Given the description of an element on the screen output the (x, y) to click on. 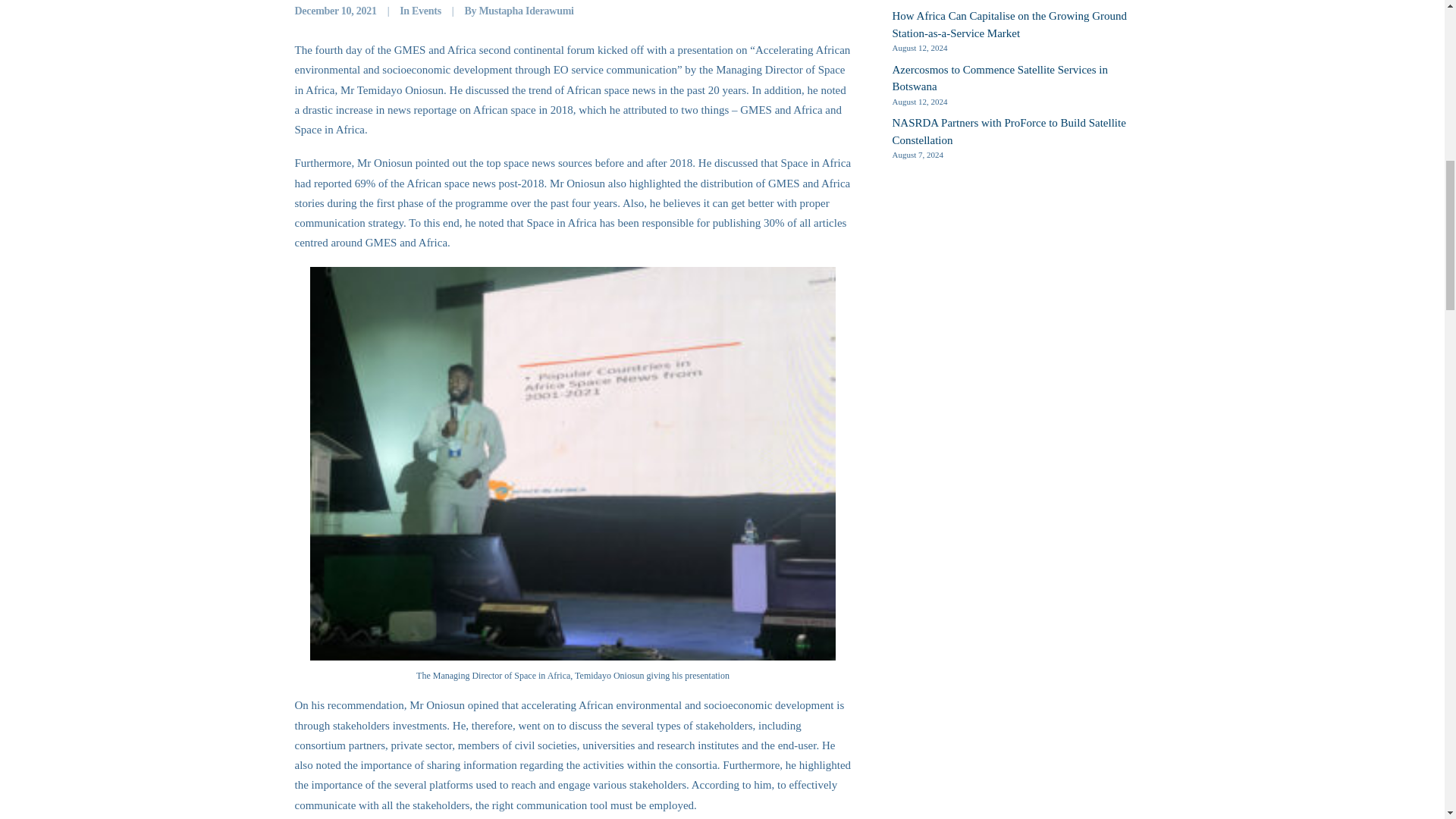
Mustapha Iderawumi (526, 10)
Events (426, 10)
Azercosmos to Commence Satellite Services in Botswana (1020, 78)
